Given the description of an element on the screen output the (x, y) to click on. 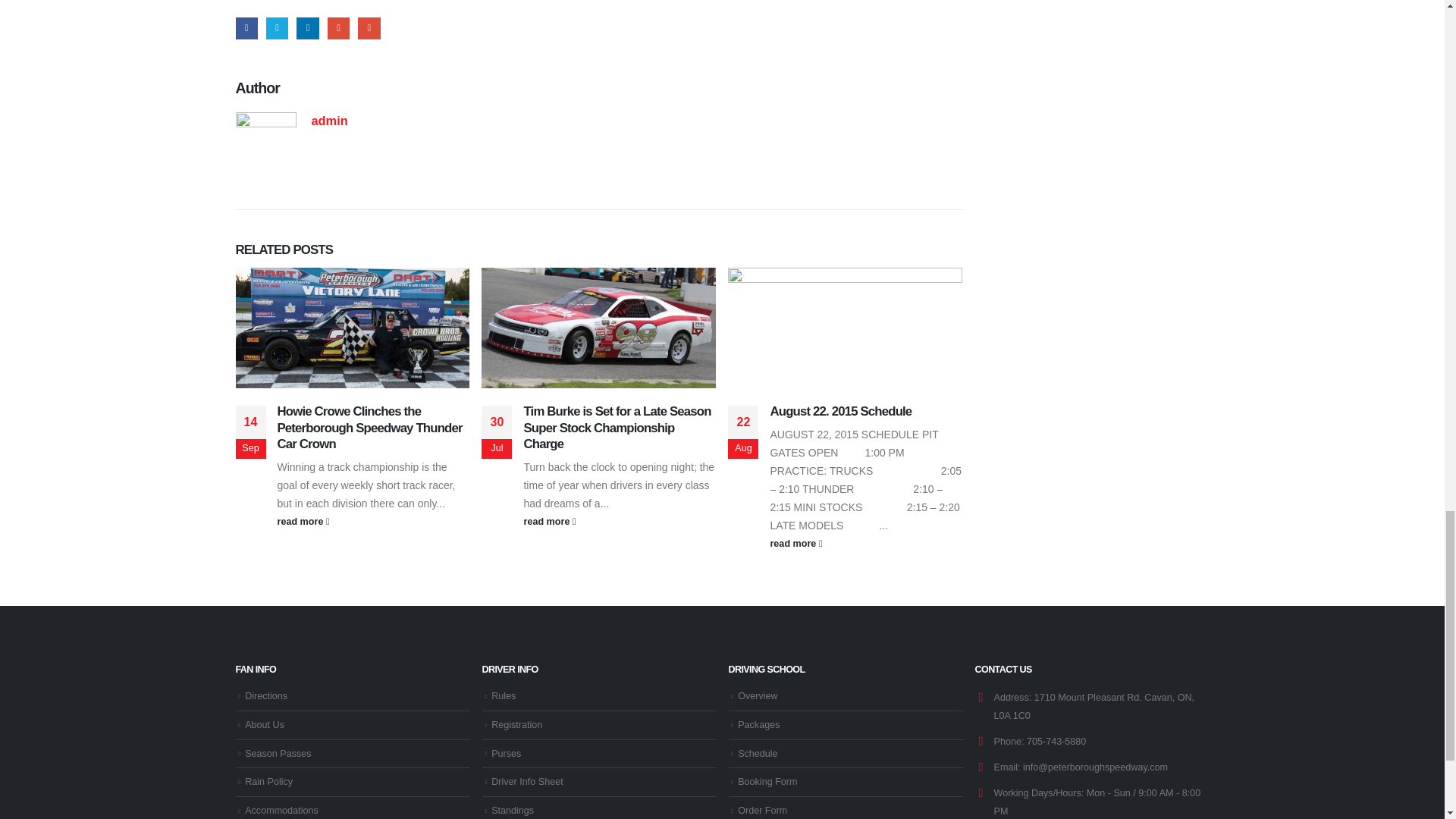
Email (369, 28)
LinkedIn (307, 28)
Twitter (277, 28)
Facebook (245, 28)
Posts by admin (329, 120)
